Given the description of an element on the screen output the (x, y) to click on. 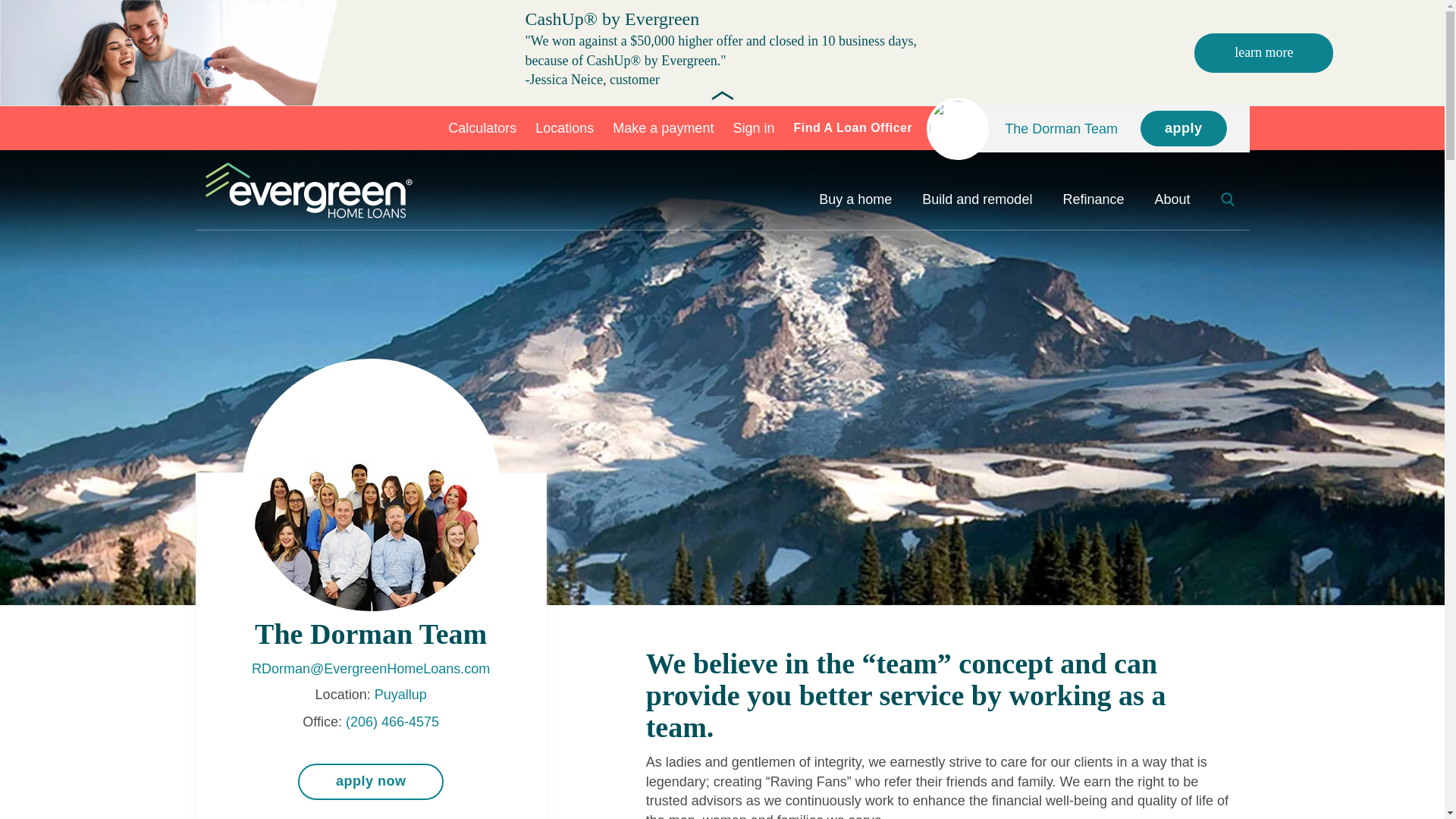
Locations (564, 127)
Find A Loan Officer (852, 128)
The Dorman Team (1061, 128)
Buy a home (855, 199)
learn more (1263, 52)
Build and remodel (976, 199)
learn more (1263, 52)
Calculators (482, 127)
Sign in (753, 127)
Make a payment (662, 127)
